Given the description of an element on the screen output the (x, y) to click on. 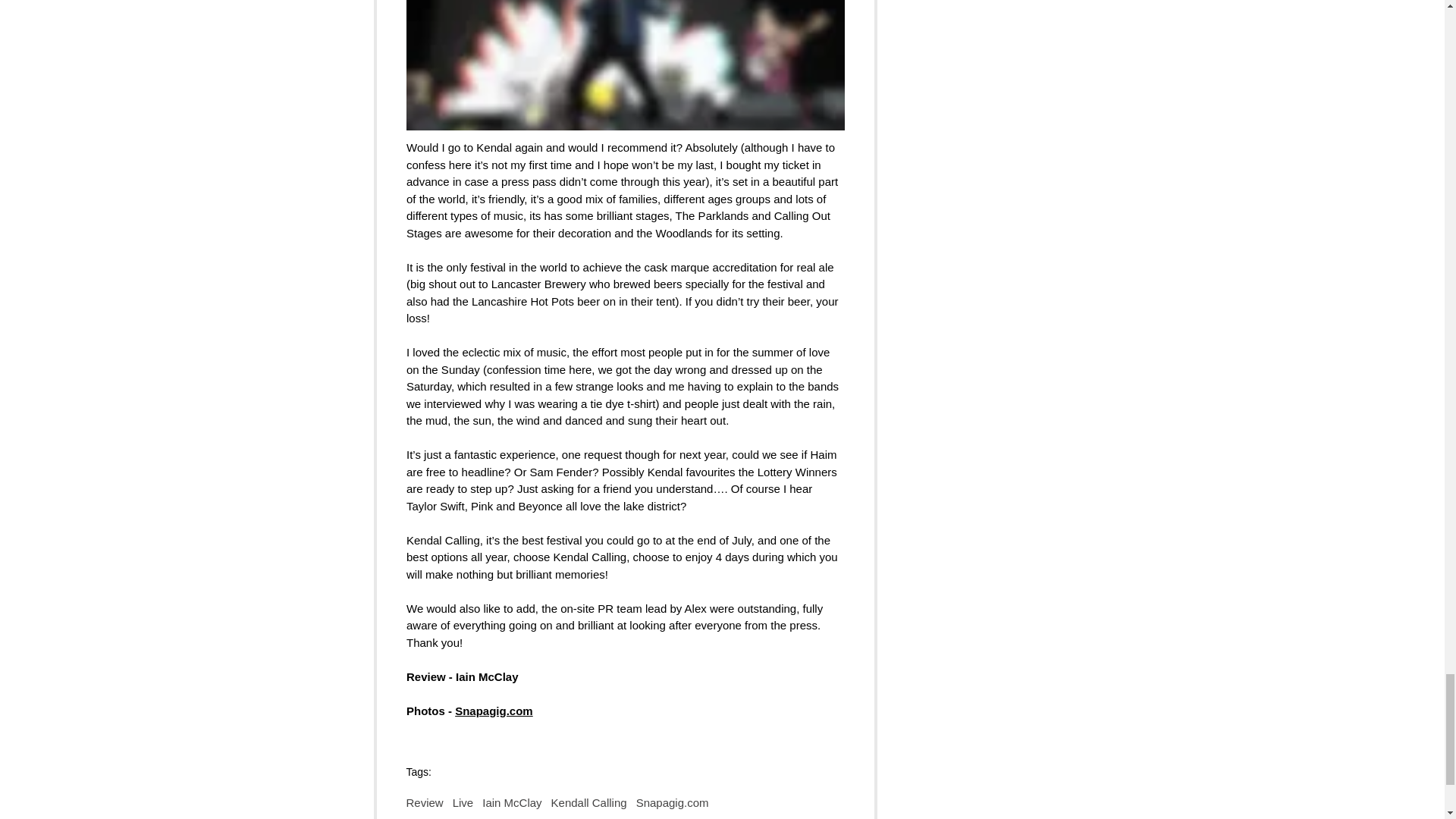
Iain McClay (511, 802)
Snapagig.com (672, 802)
Review (425, 802)
Kendall Calling (589, 802)
Live (463, 802)
Snapagig.com (493, 710)
